Given the description of an element on the screen output the (x, y) to click on. 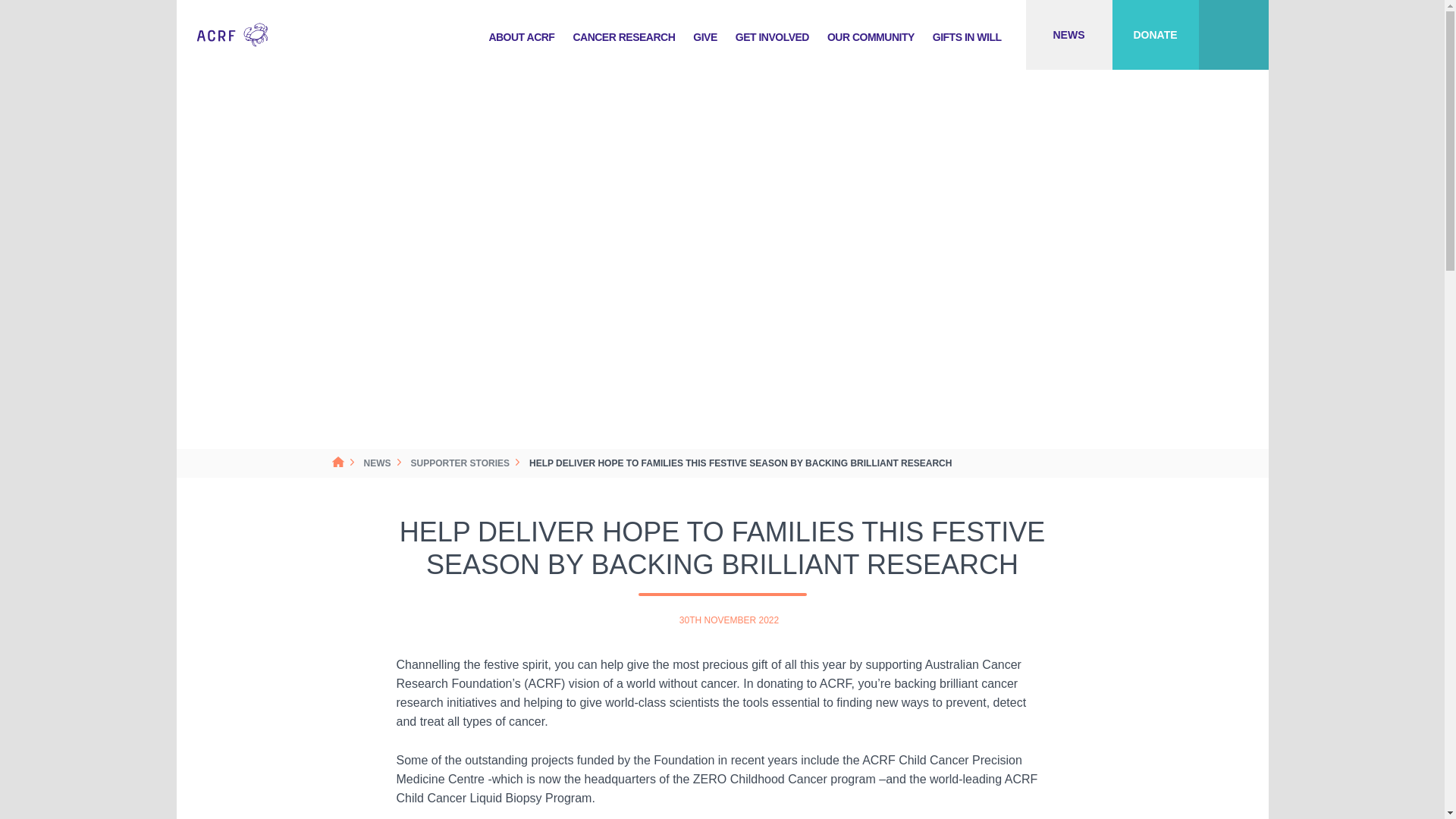
OUR COMMUNITY (870, 34)
GET INVOLVED (772, 34)
ABOUT ACRF (520, 34)
GIVE (704, 34)
CANCER RESEARCH (623, 34)
GIFTS IN WILL (967, 34)
